Given the description of an element on the screen output the (x, y) to click on. 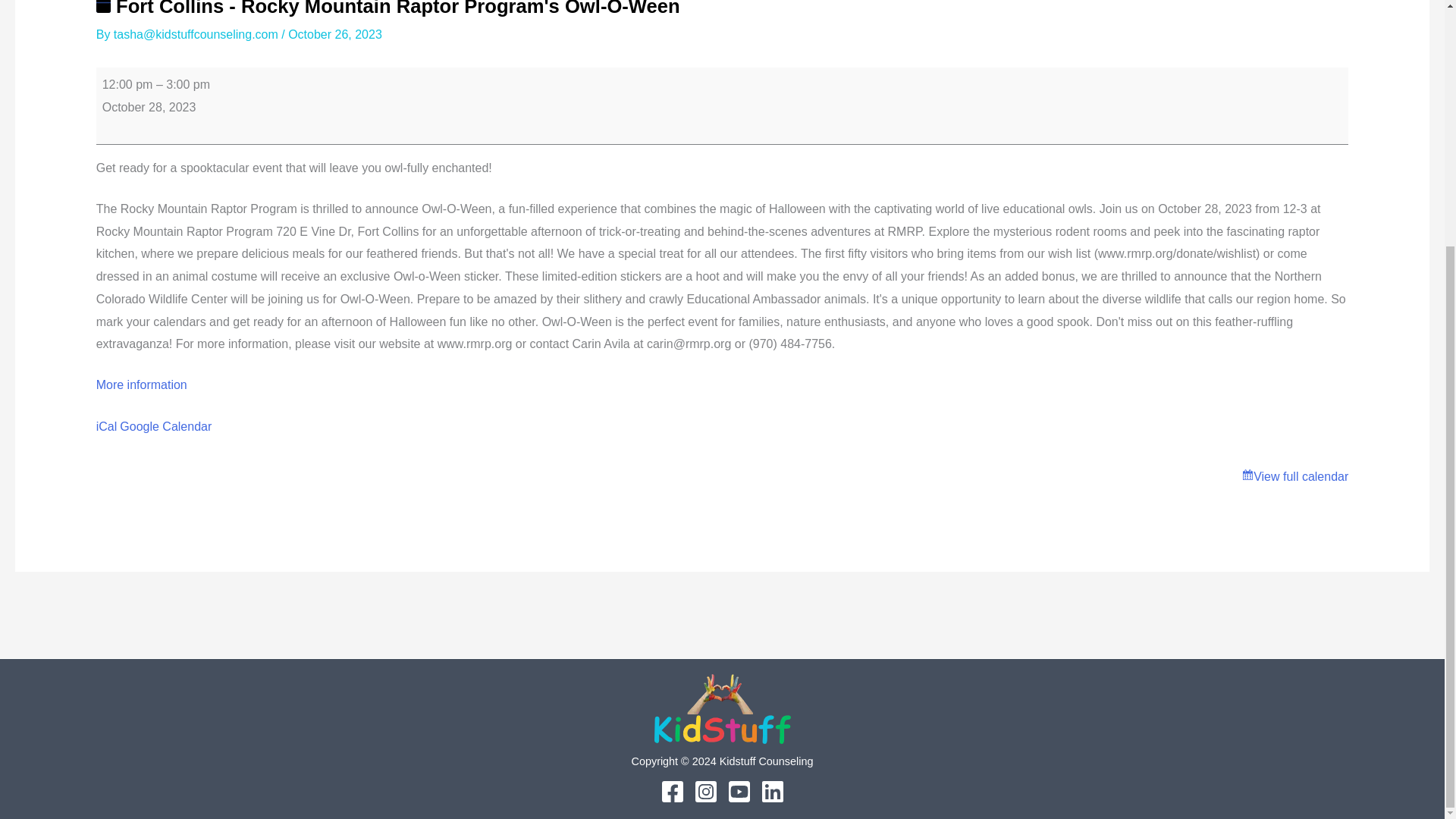
Category: General (103, 6)
